Given the description of an element on the screen output the (x, y) to click on. 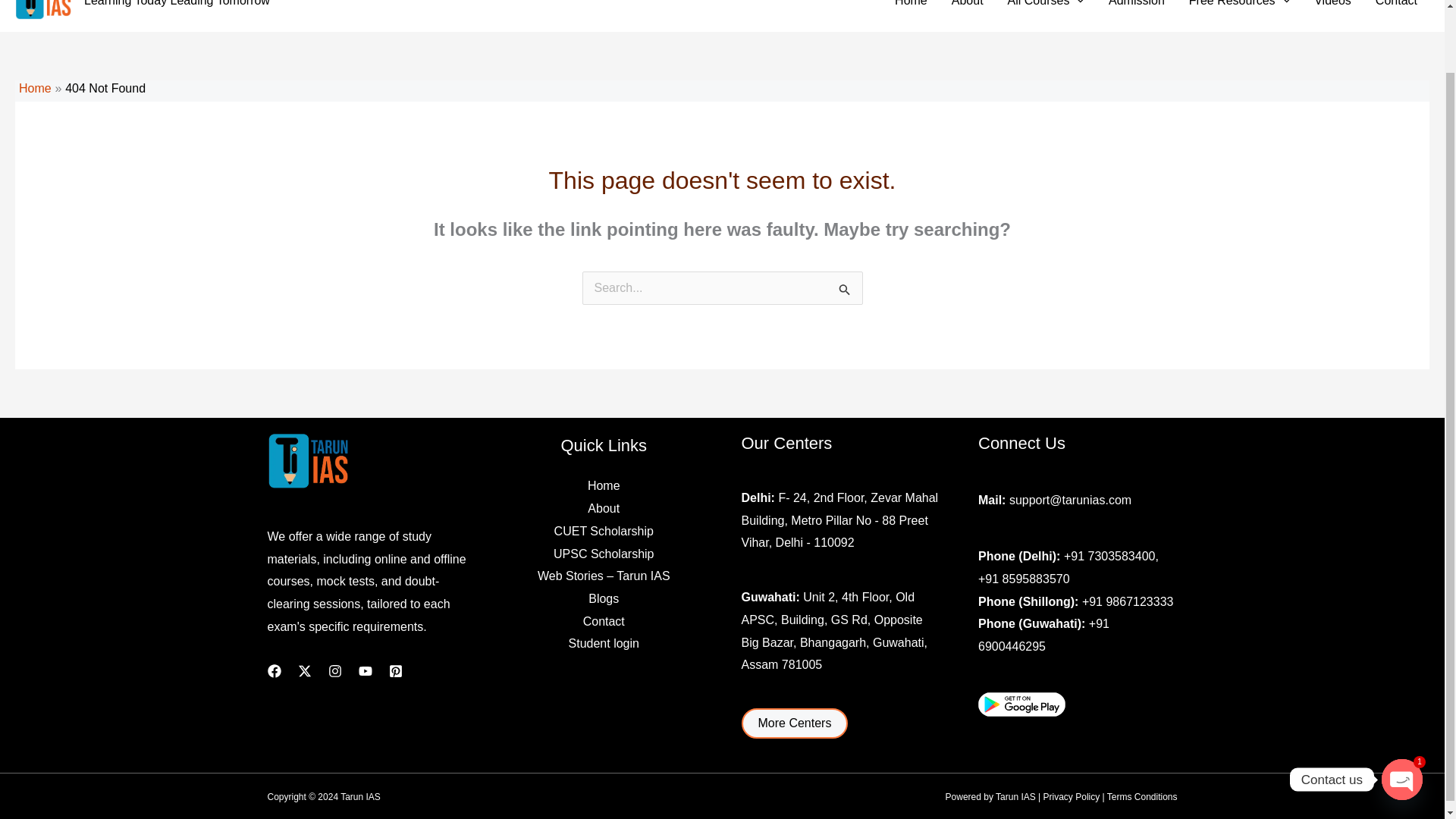
Admission (1136, 6)
About (967, 6)
Contact (1395, 6)
Home (910, 6)
Free Resources (1238, 6)
Home (34, 88)
All Courses (1045, 6)
Videos (1331, 6)
